Given the description of an element on the screen output the (x, y) to click on. 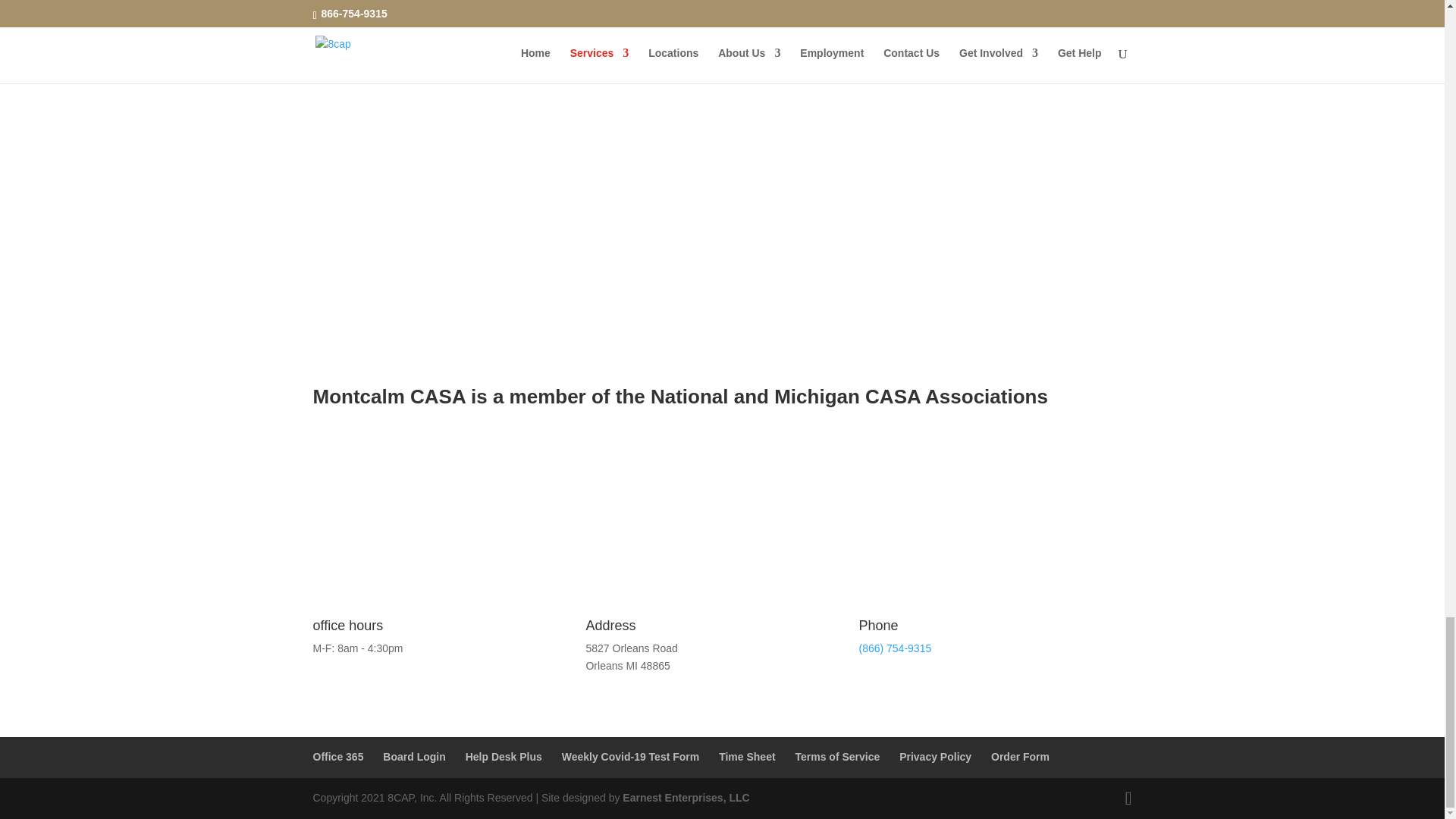
Board Login (413, 756)
Order Form (1020, 756)
Time Sheet (746, 756)
Office 365 (337, 756)
Weekly Covid-19 Test Form (631, 756)
Help Desk Plus (503, 756)
Privacy Policy (935, 756)
Earnest Enterprises, LLC (686, 797)
National and Michigan CASA Associations (849, 395)
Terms of Service (836, 756)
